Given the description of an element on the screen output the (x, y) to click on. 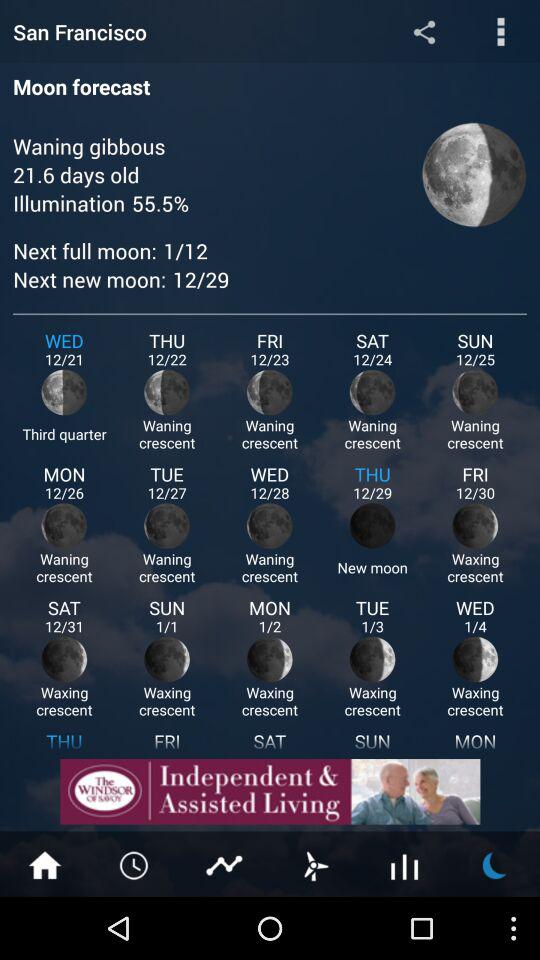
advertisement area (270, 791)
